Given the description of an element on the screen output the (x, y) to click on. 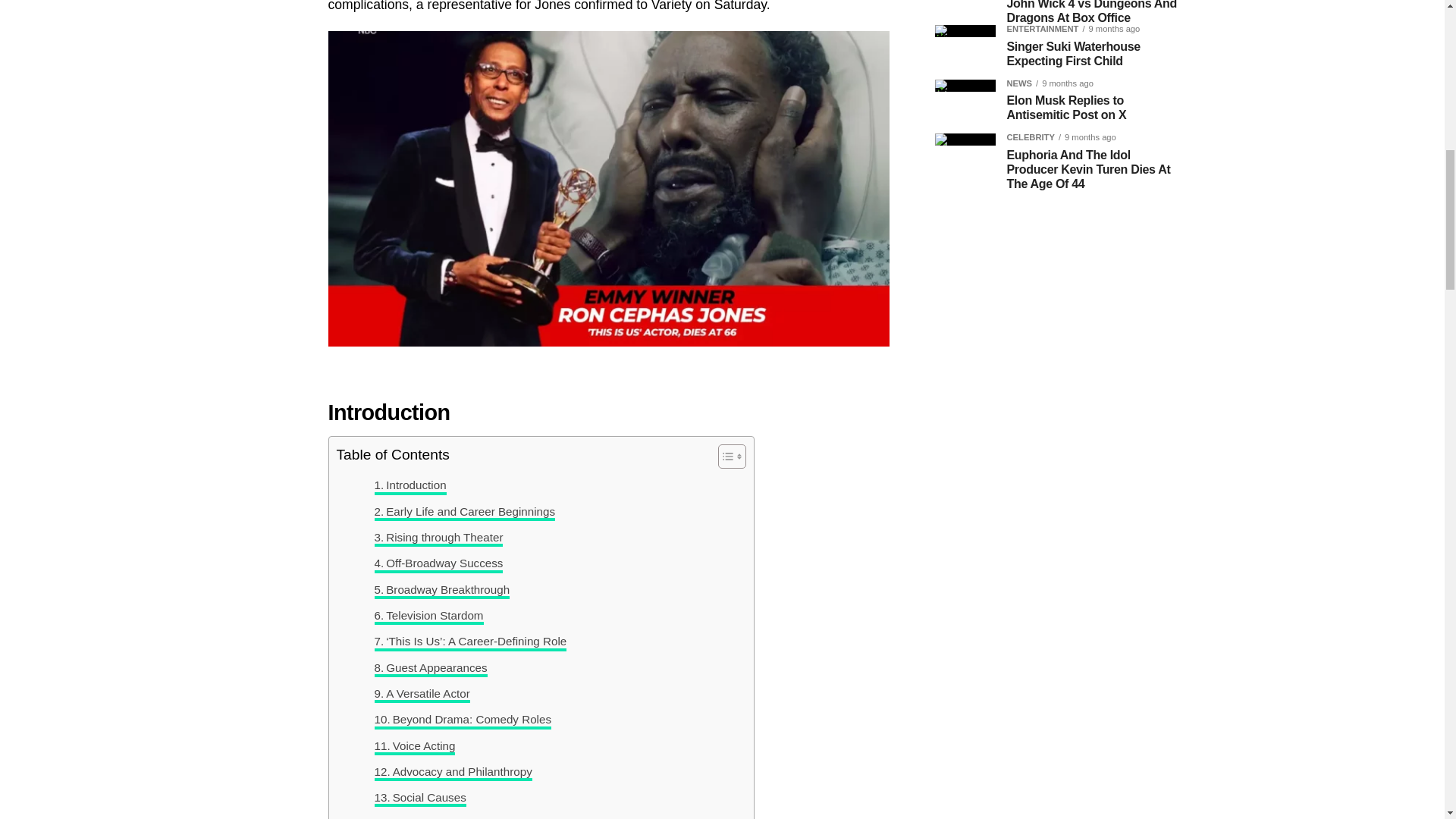
Guest Appearances (430, 668)
Beyond Drama: Comedy Roles (462, 719)
Broadway Breakthrough (442, 589)
Off-Broadway Success (438, 563)
Social Causes (419, 797)
Television Stardom (428, 615)
Rising through Theater (438, 537)
Advocacy and Philanthropy (453, 771)
Introduction (410, 484)
Voice Acting (414, 746)
